Given the description of an element on the screen output the (x, y) to click on. 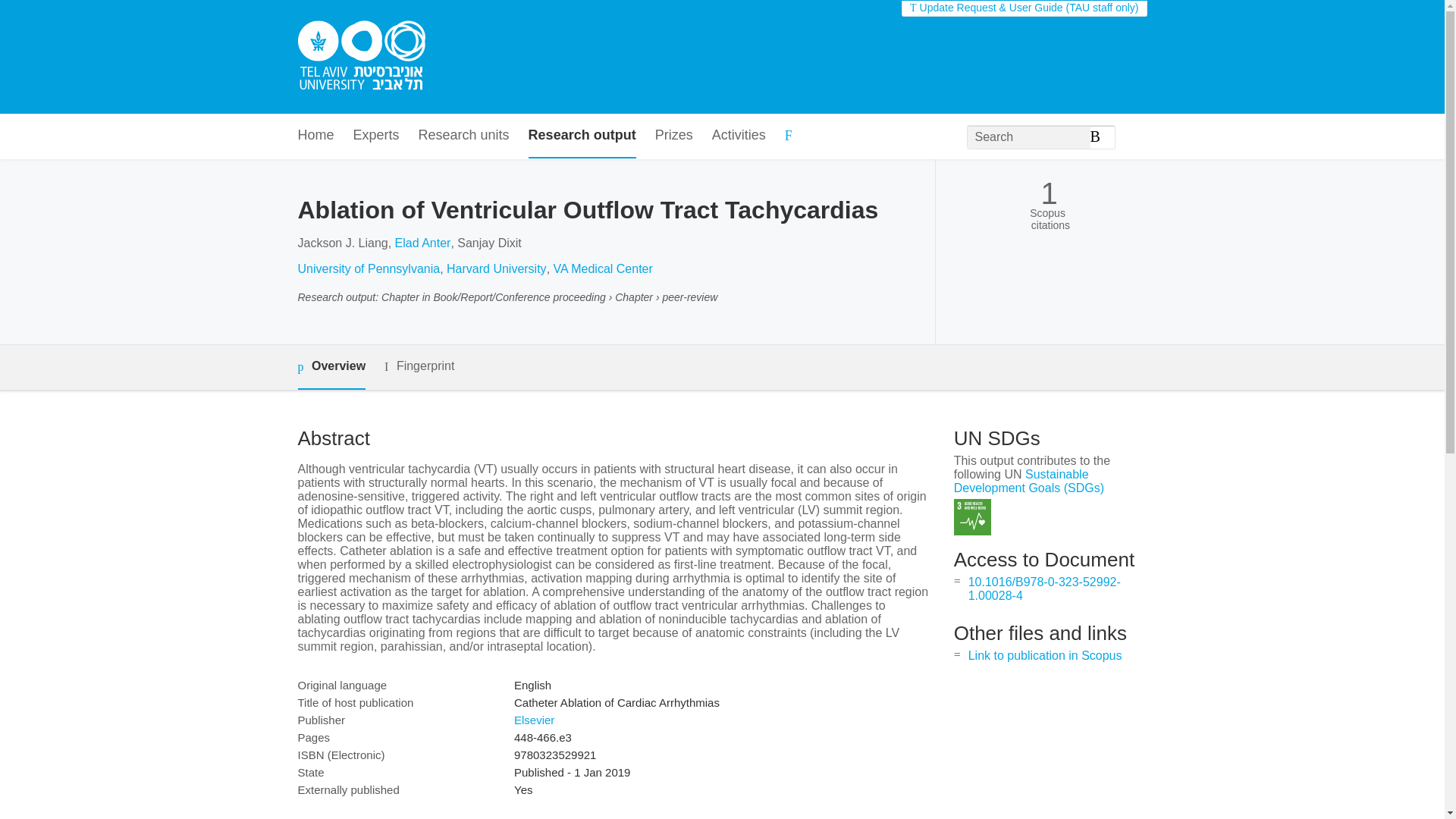
Research output (582, 135)
Harvard University (496, 268)
VA Medical Center (602, 268)
Experts (375, 135)
Link to publication in Scopus (1045, 655)
Research units (464, 135)
SDG 3 - Good Health and Well-being (972, 517)
Elsevier (533, 719)
Tel Aviv University Home (361, 56)
